Given the description of an element on the screen output the (x, y) to click on. 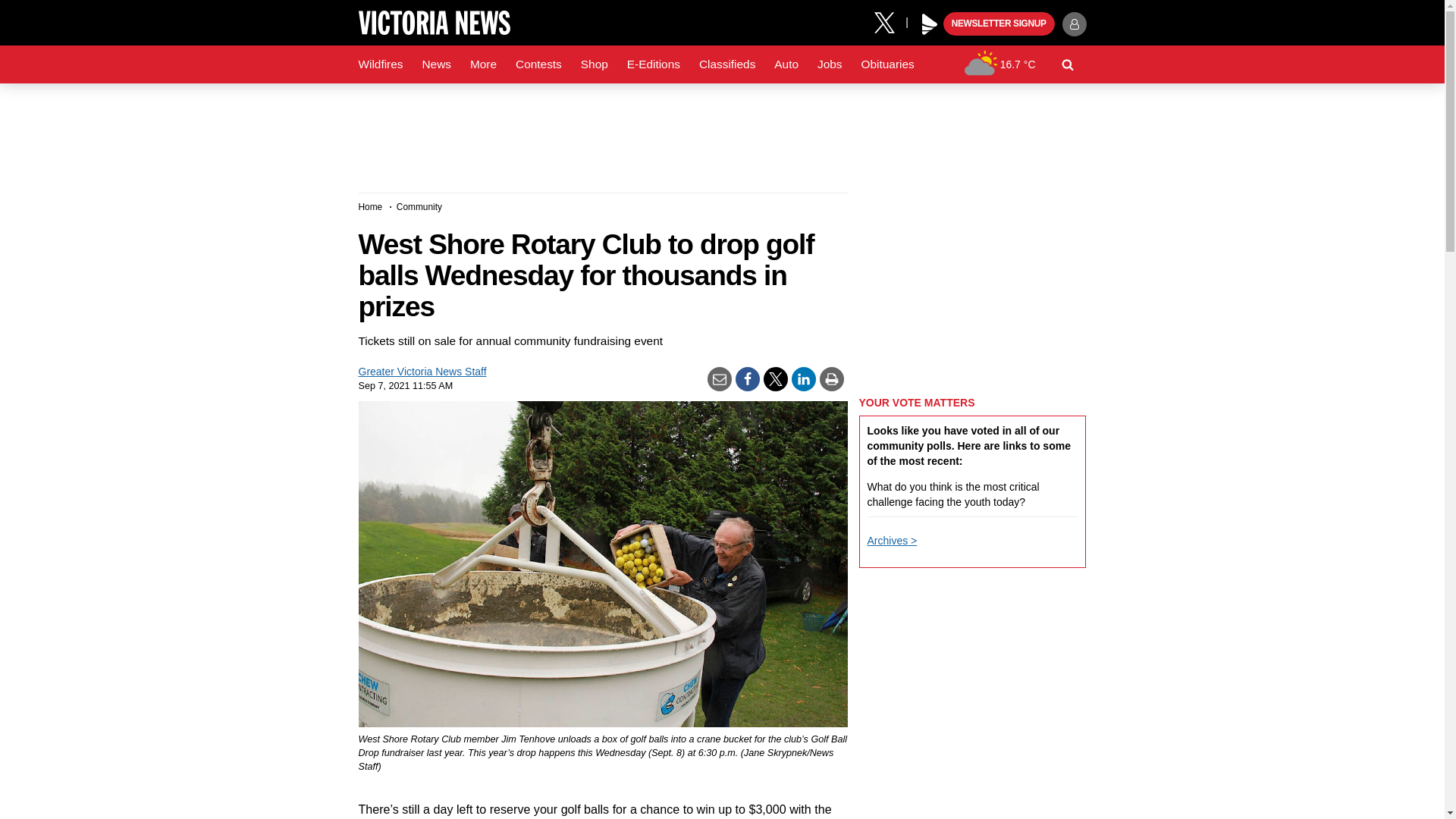
NEWSLETTER SIGNUP (998, 24)
News (435, 64)
X (889, 21)
Play (929, 24)
Black Press Media (929, 24)
Wildfires (380, 64)
